Given the description of an element on the screen output the (x, y) to click on. 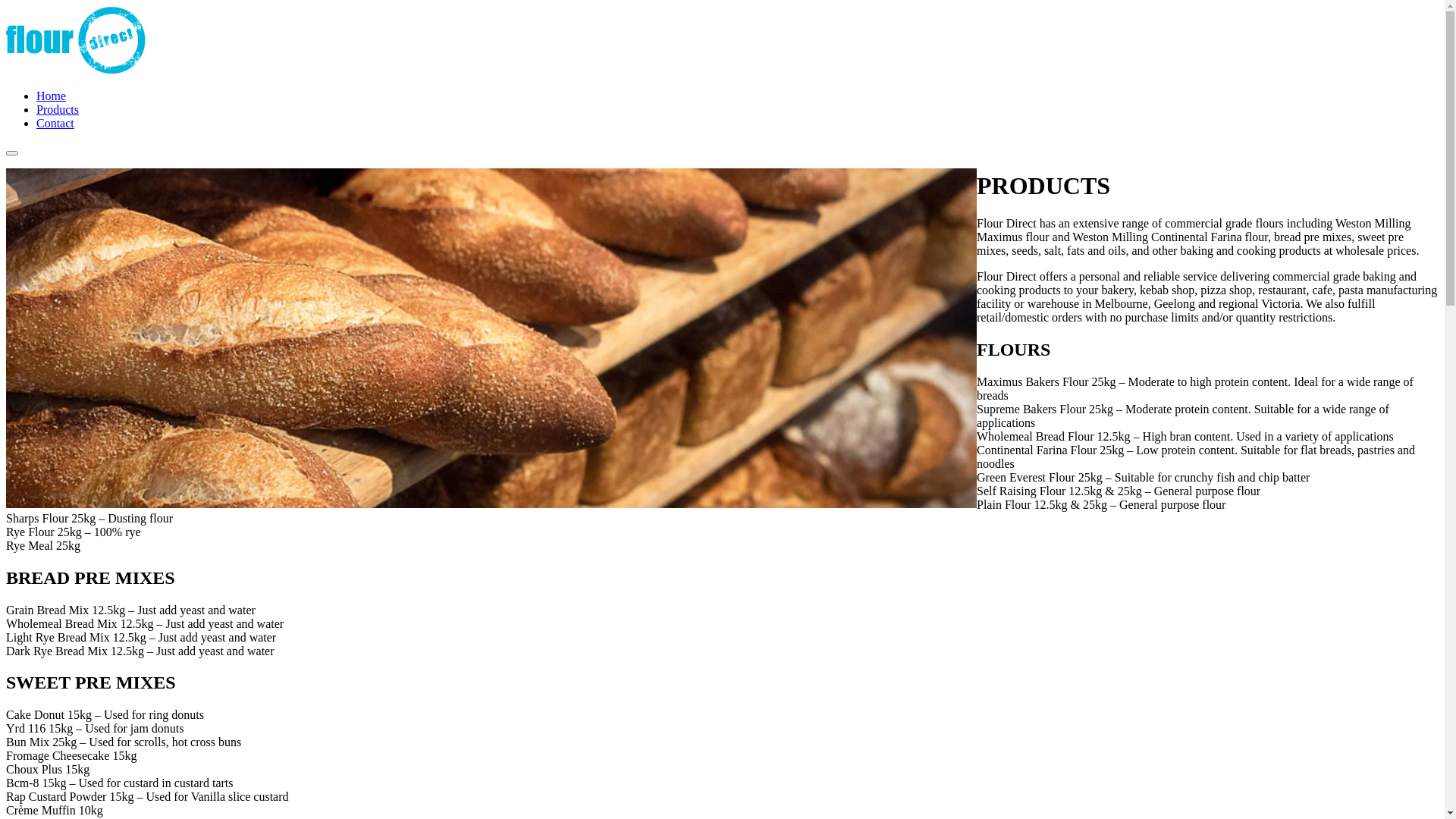
Products Element type: text (57, 109)
Contact Element type: text (55, 122)
Home Element type: text (50, 95)
Flour Direct Flour Wholesalers Melbourne Element type: hover (75, 69)
